Given the description of an element on the screen output the (x, y) to click on. 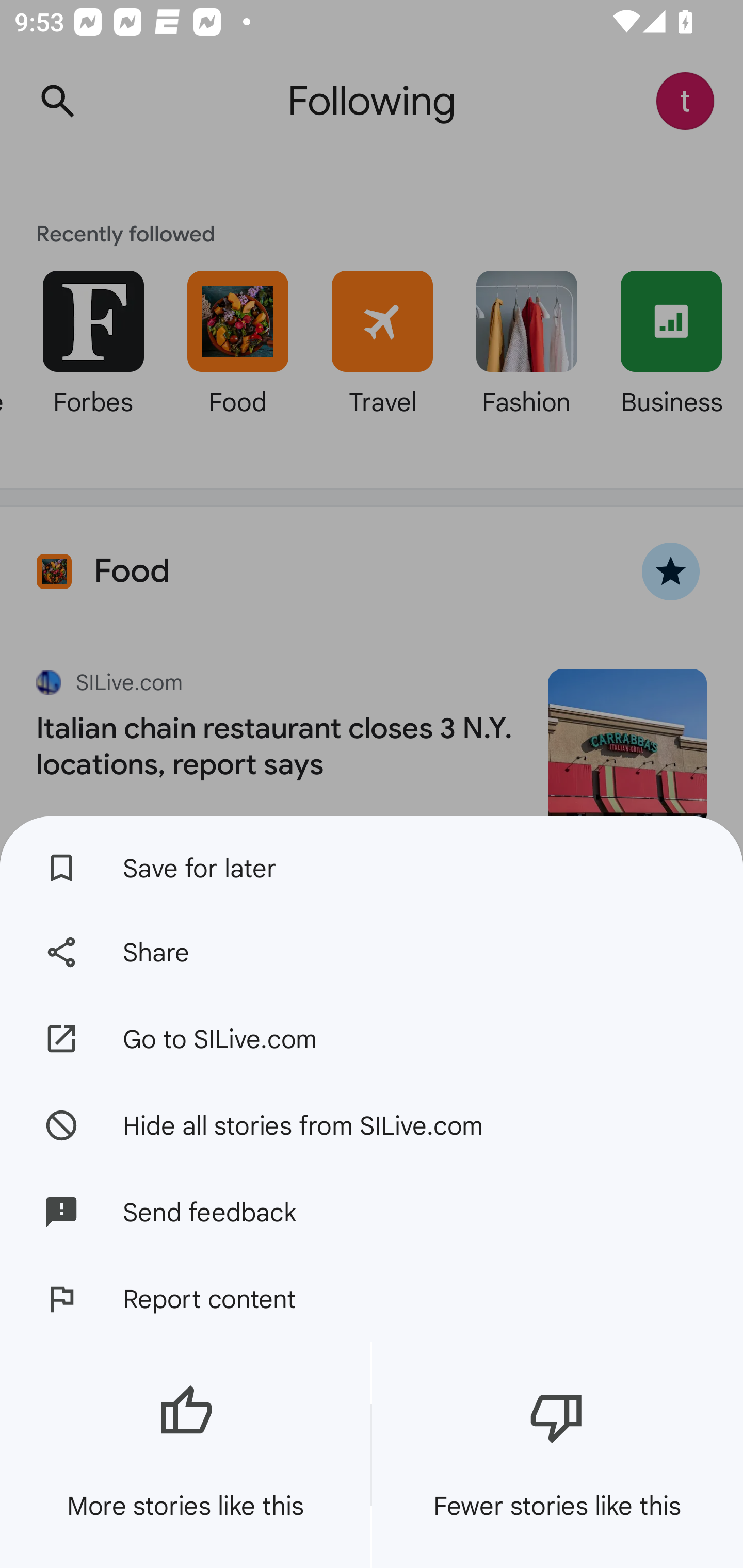
Save for later (371, 862)
Share (371, 952)
Go to SILive.com (371, 1038)
Hide all stories from SILive.com (371, 1124)
Send feedback (371, 1211)
Report content (371, 1298)
More stories like this (185, 1455)
Fewer stories like this (557, 1455)
